Given the description of an element on the screen output the (x, y) to click on. 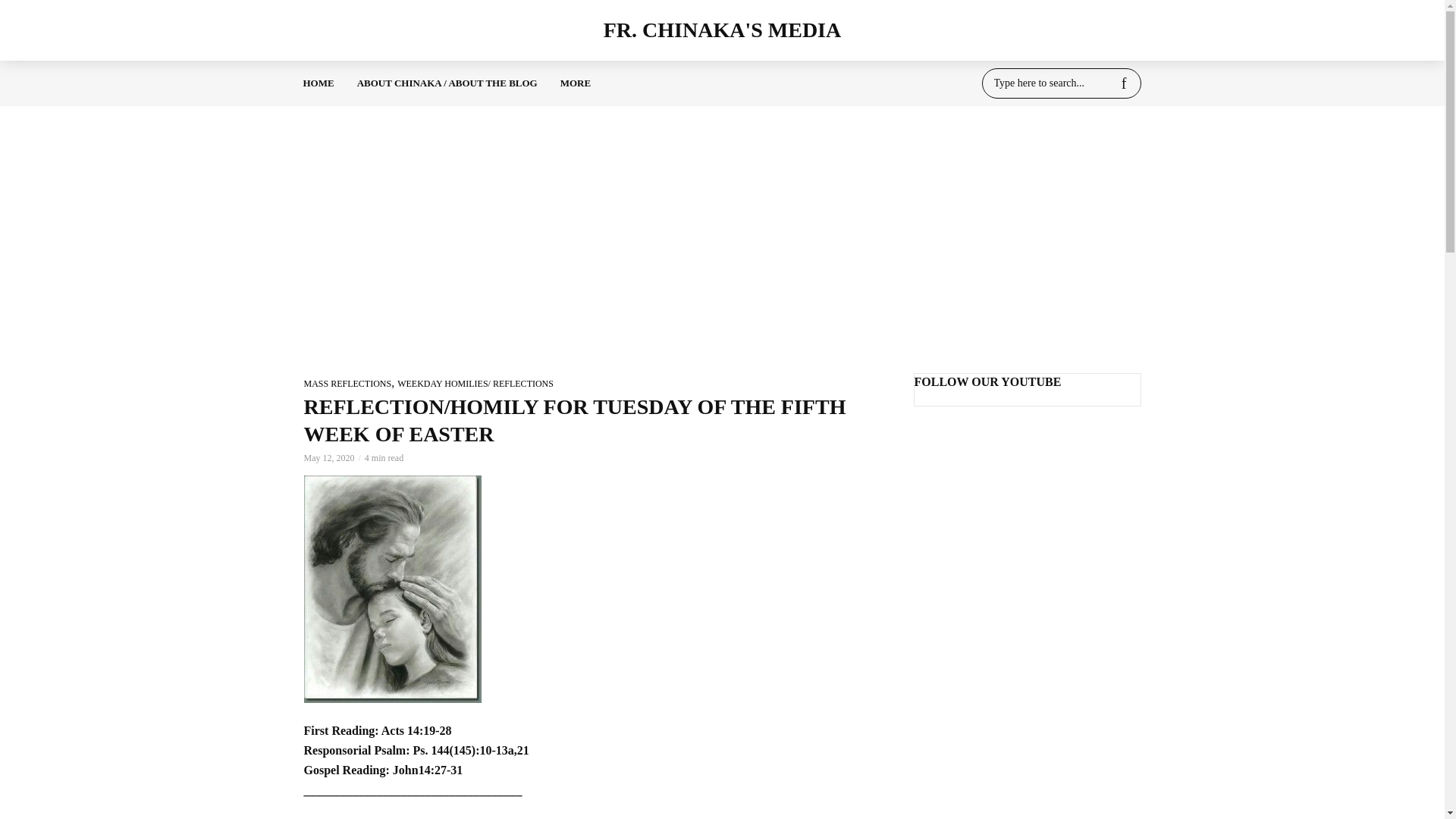
MORE (575, 83)
MASS REFLECTIONS (346, 383)
HOME (318, 83)
FR. CHINAKA'S MEDIA (721, 29)
